Given the description of an element on the screen output the (x, y) to click on. 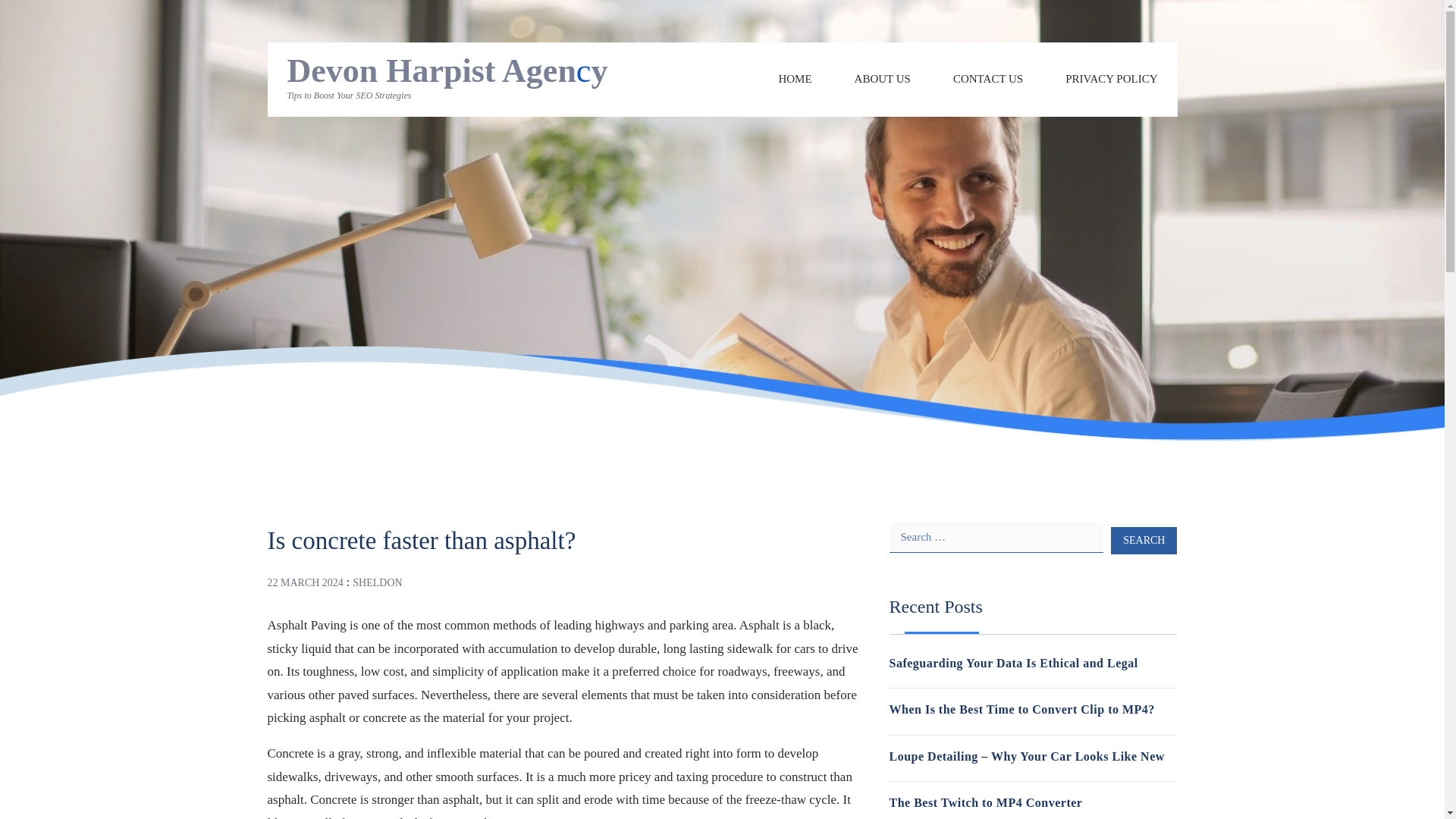
Search (1143, 539)
Search (1143, 539)
22 MARCH 2024 (304, 582)
When Is the Best Time to Convert Clip to MP4? (1021, 708)
HOME (793, 78)
SHELDON (376, 582)
Safeguarding Your Data Is Ethical and Legal (1012, 662)
The Best Twitch to MP4 Converter (984, 802)
ABOUT US (882, 78)
Search (1143, 539)
PRIVACY POLICY (1111, 78)
CONTACT US (988, 78)
Devon Harpist Agency (446, 70)
